Given the description of an element on the screen output the (x, y) to click on. 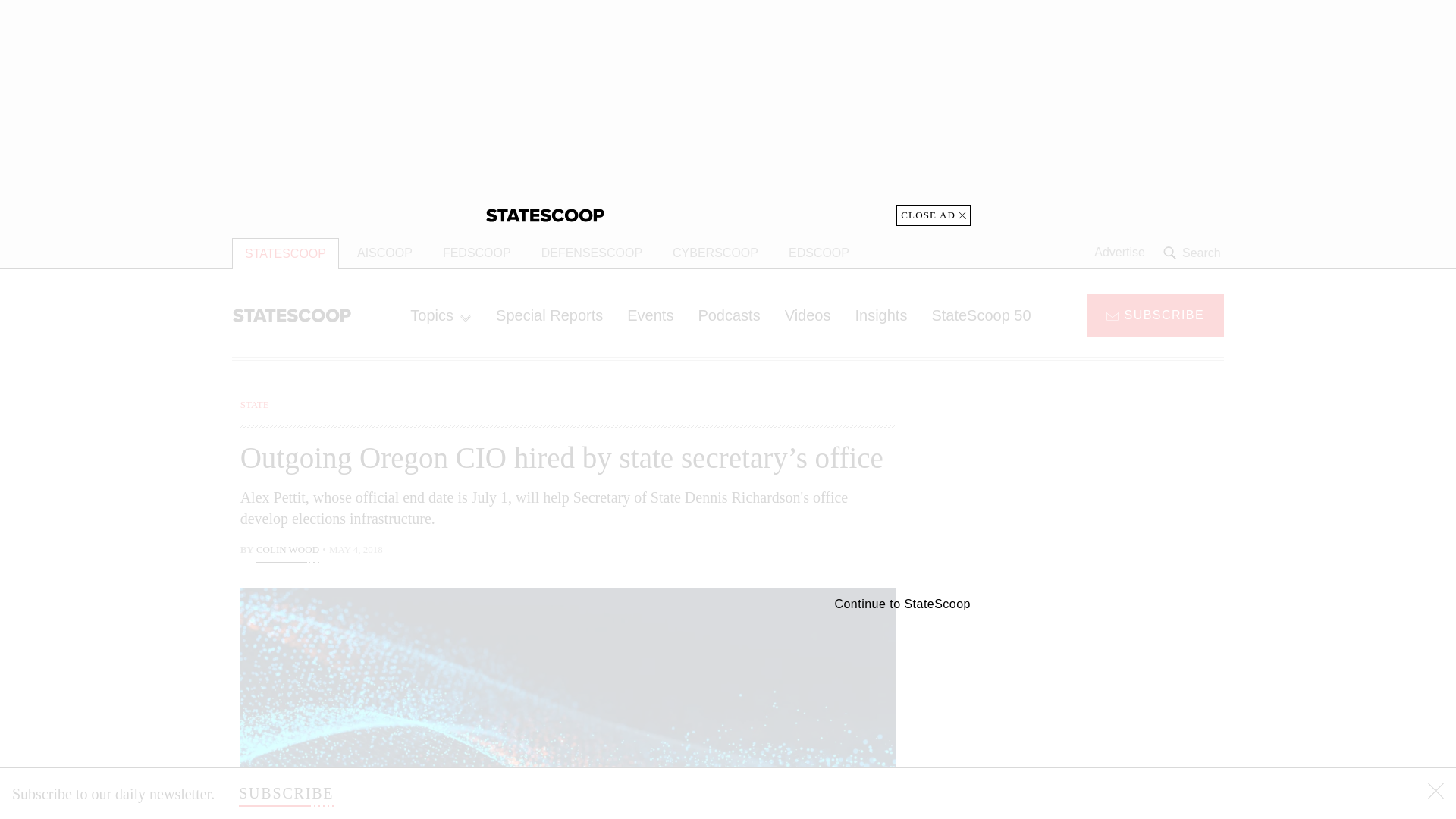
AISCOOP (385, 253)
SUBSCRIBE (1155, 314)
Events (649, 315)
COLIN WOOD (287, 550)
SUBSCRIBE (285, 793)
Podcasts (728, 315)
Videos (808, 315)
EDSCOOP (818, 253)
Colin Wood (287, 550)
DEFENSESCOOP (591, 253)
Topics (440, 315)
STATESCOOP (285, 253)
FEDSCOOP (476, 253)
Insights (880, 315)
